Given the description of an element on the screen output the (x, y) to click on. 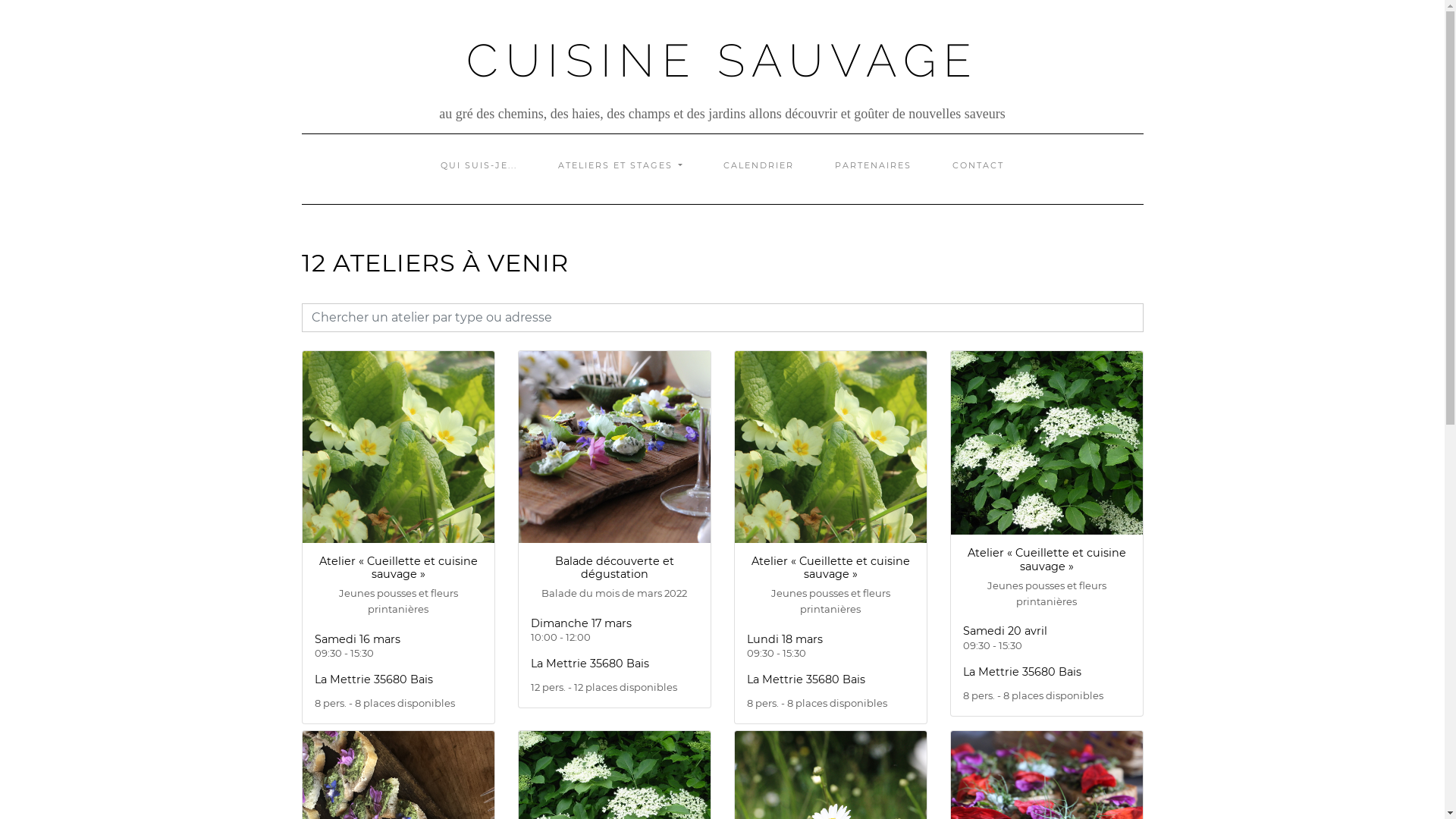
CUISINE SAUVAGE Element type: text (721, 60)
QUI SUIS-JE...
(CURRENT) Element type: text (478, 165)
ATELIERS ET STAGES Element type: text (620, 165)
PARTENAIRES Element type: text (872, 165)
CONTACT Element type: text (977, 165)
CALENDRIER Element type: text (758, 165)
